Given the description of an element on the screen output the (x, y) to click on. 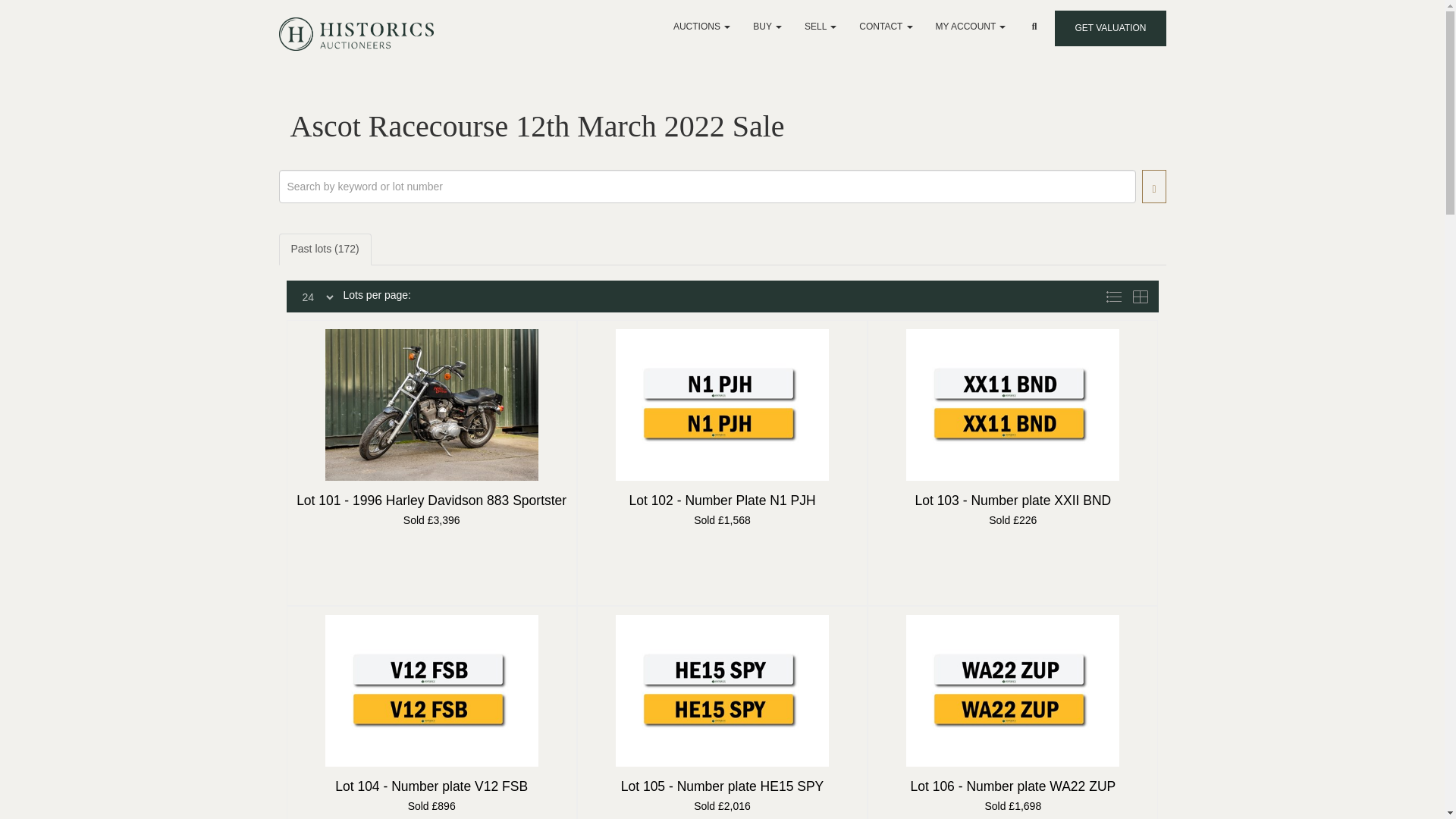
BUY (767, 26)
CONTACT (885, 26)
Show in list (1116, 295)
SELL (820, 26)
GET VALUATION (1110, 27)
Show in grid (1142, 295)
AUCTIONS (701, 26)
MY ACCOUNT (970, 26)
